Given the description of an element on the screen output the (x, y) to click on. 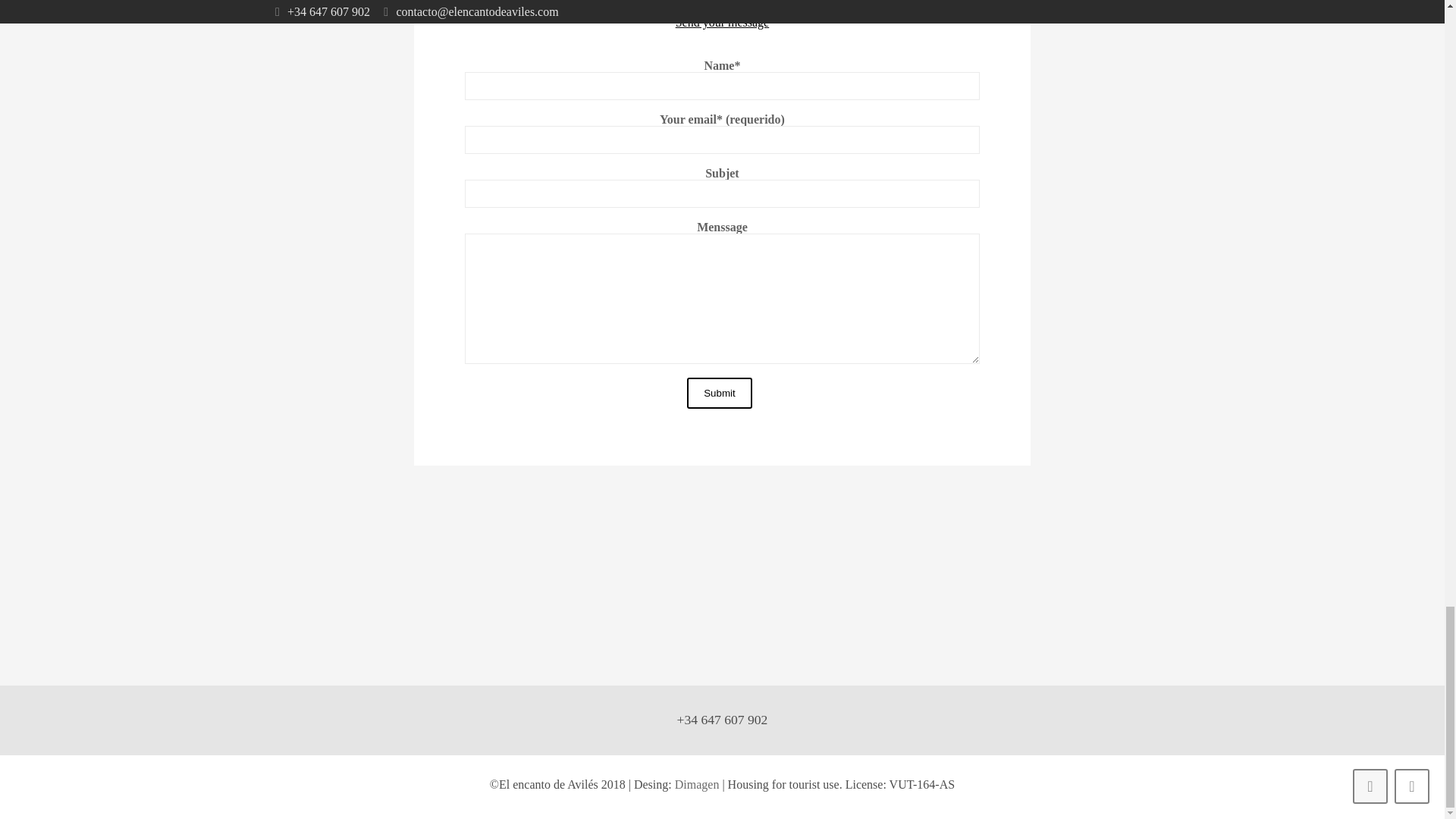
Submit (719, 392)
Dimagen (697, 784)
Submit (719, 392)
